Given the description of an element on the screen output the (x, y) to click on. 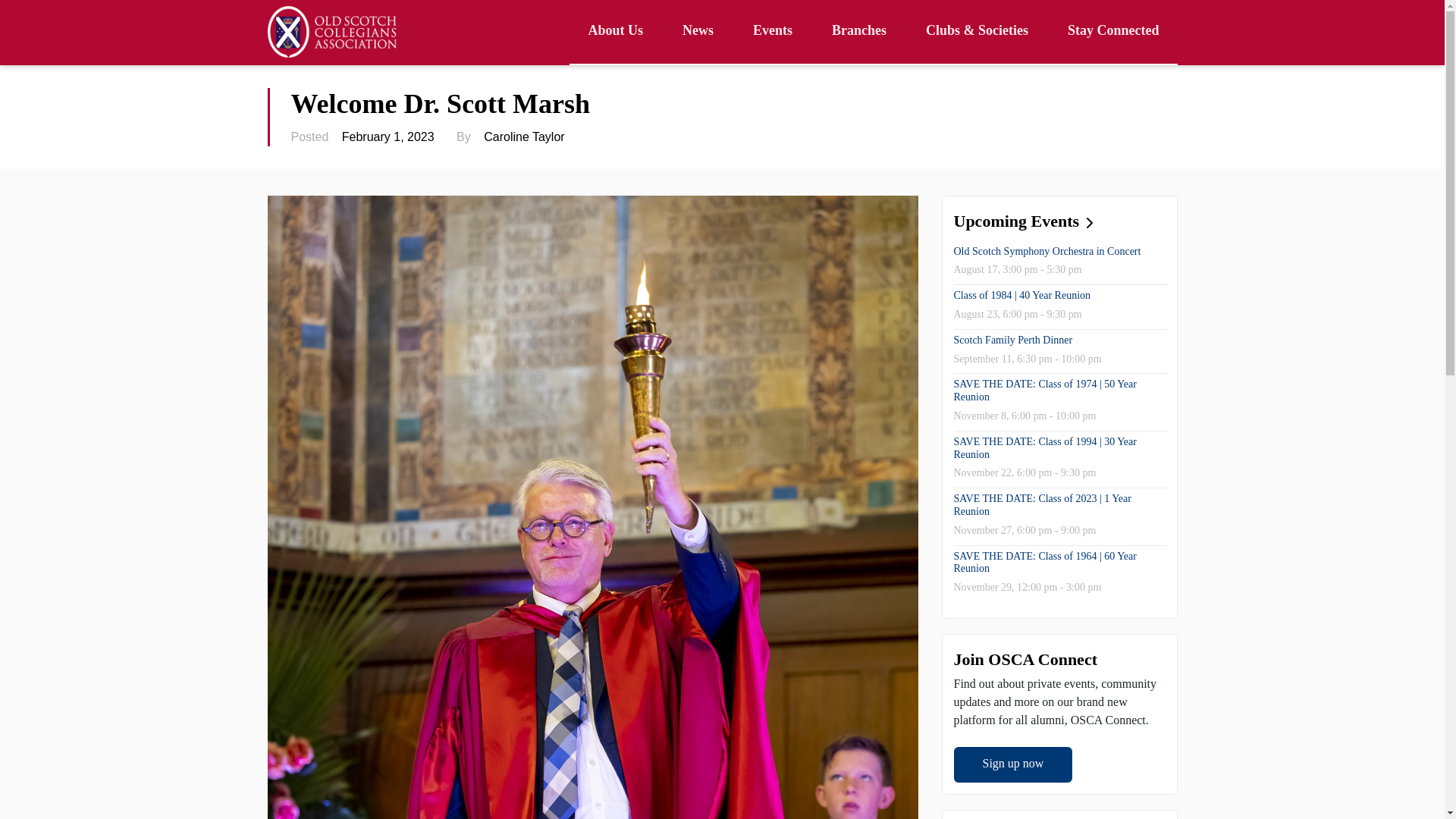
About Us (615, 31)
News (697, 31)
Scotch Family Perth Dinner (1013, 339)
Branches (858, 31)
Old Scotch Symphony Orchestra in Concert (1047, 251)
Events (772, 31)
Stay Connected (1113, 31)
